Given the description of an element on the screen output the (x, y) to click on. 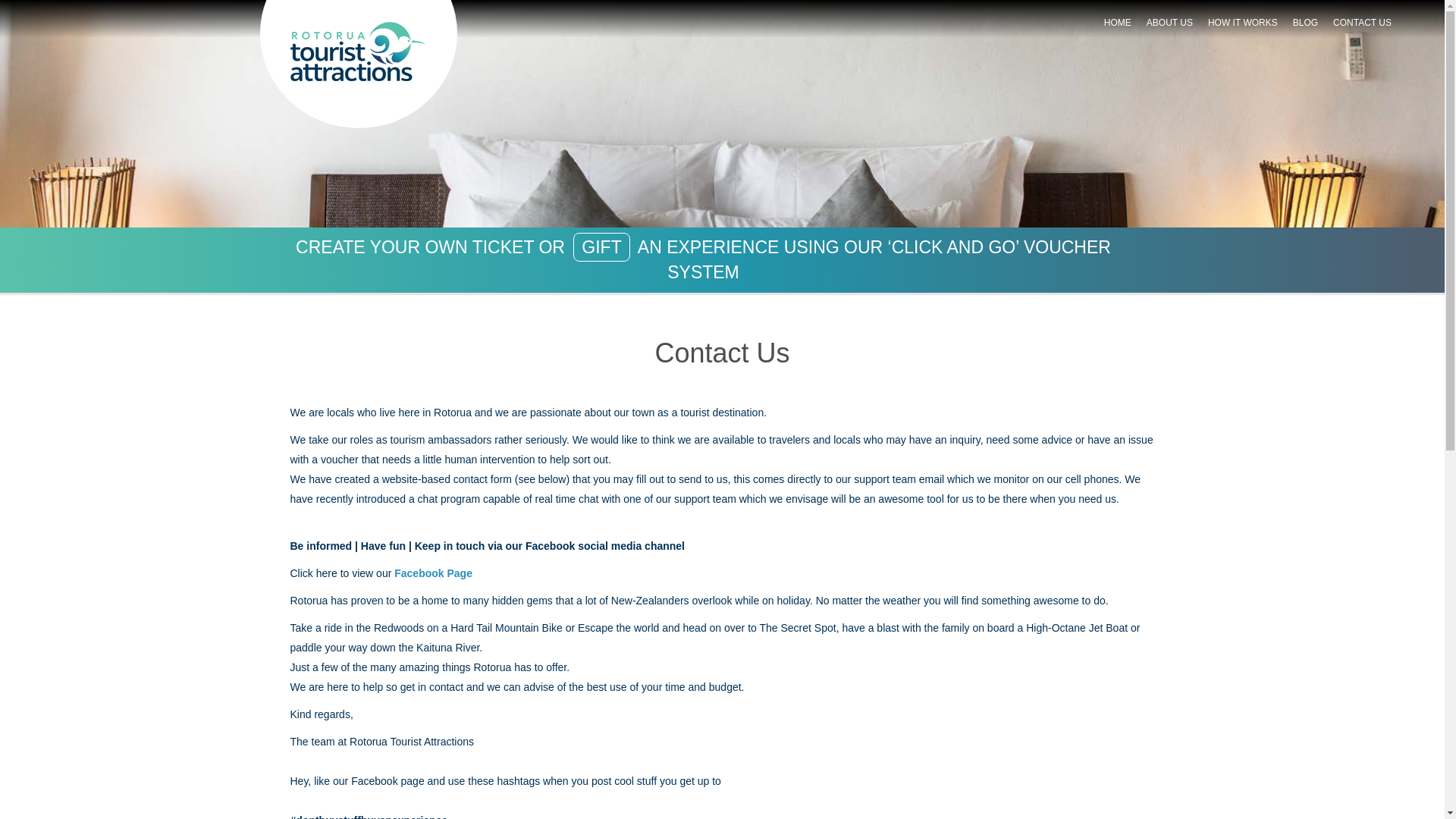
Rotorua Tourist Attractions (357, 51)
Facebook Page (432, 573)
HOME (1117, 22)
BLOG (1304, 22)
GIFT (600, 246)
CONTACT US (1361, 22)
ABOUT US (1168, 22)
HOW IT WORKS (1242, 22)
